Given the description of an element on the screen output the (x, y) to click on. 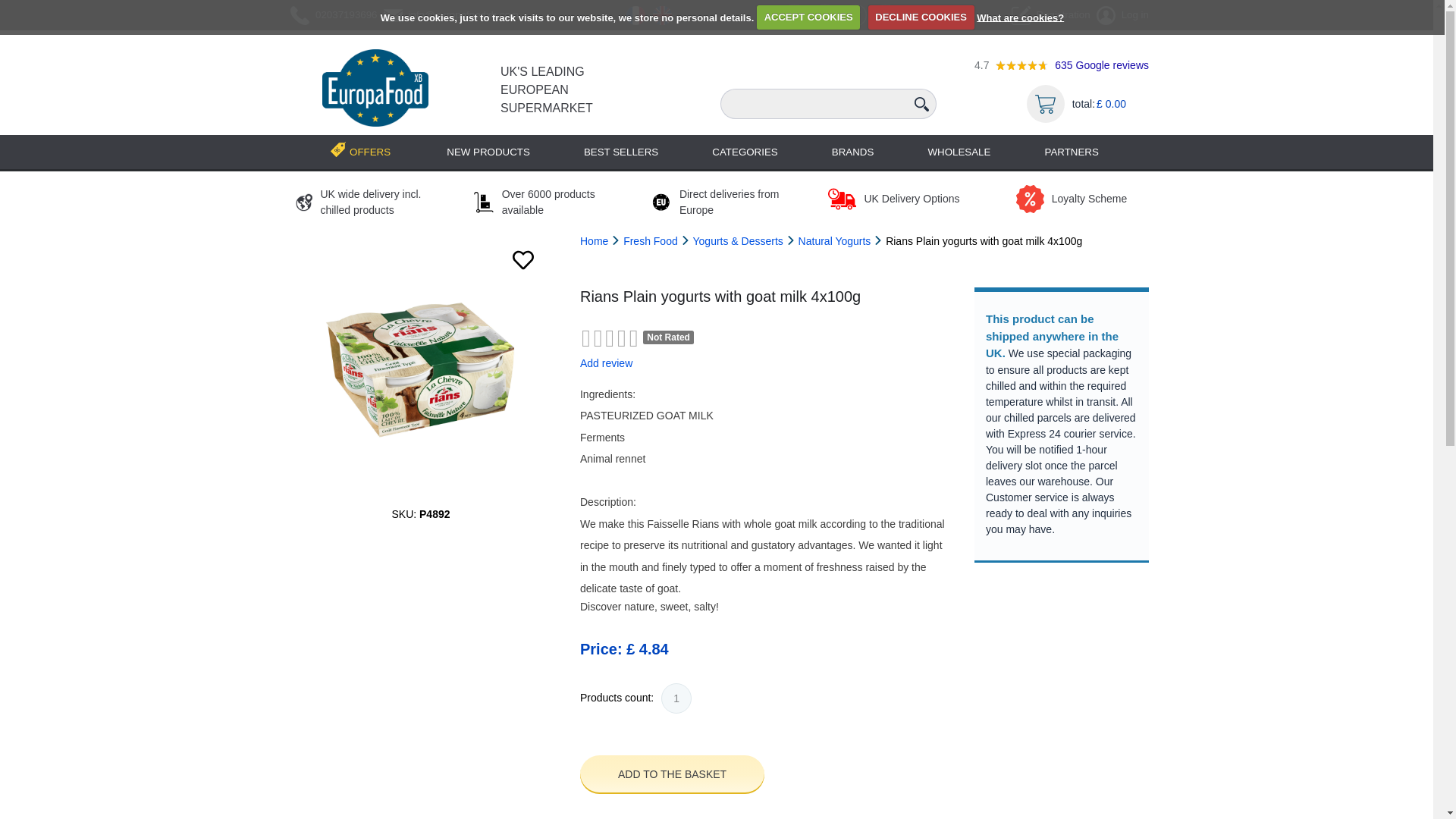
NEW PRODUCTS (488, 151)
BEST SELLERS (620, 151)
search (921, 104)
DECLINE COOKIES (920, 16)
UK'S LEADING EUROPEAN SUPERMARKET (546, 89)
02037193696 (330, 15)
Registration (1048, 15)
1 (676, 698)
 Food Delivery EuropaFoodXB  (374, 87)
Rians Plain yogurts with goat milk 4x100g (420, 369)
